Given the description of an element on the screen output the (x, y) to click on. 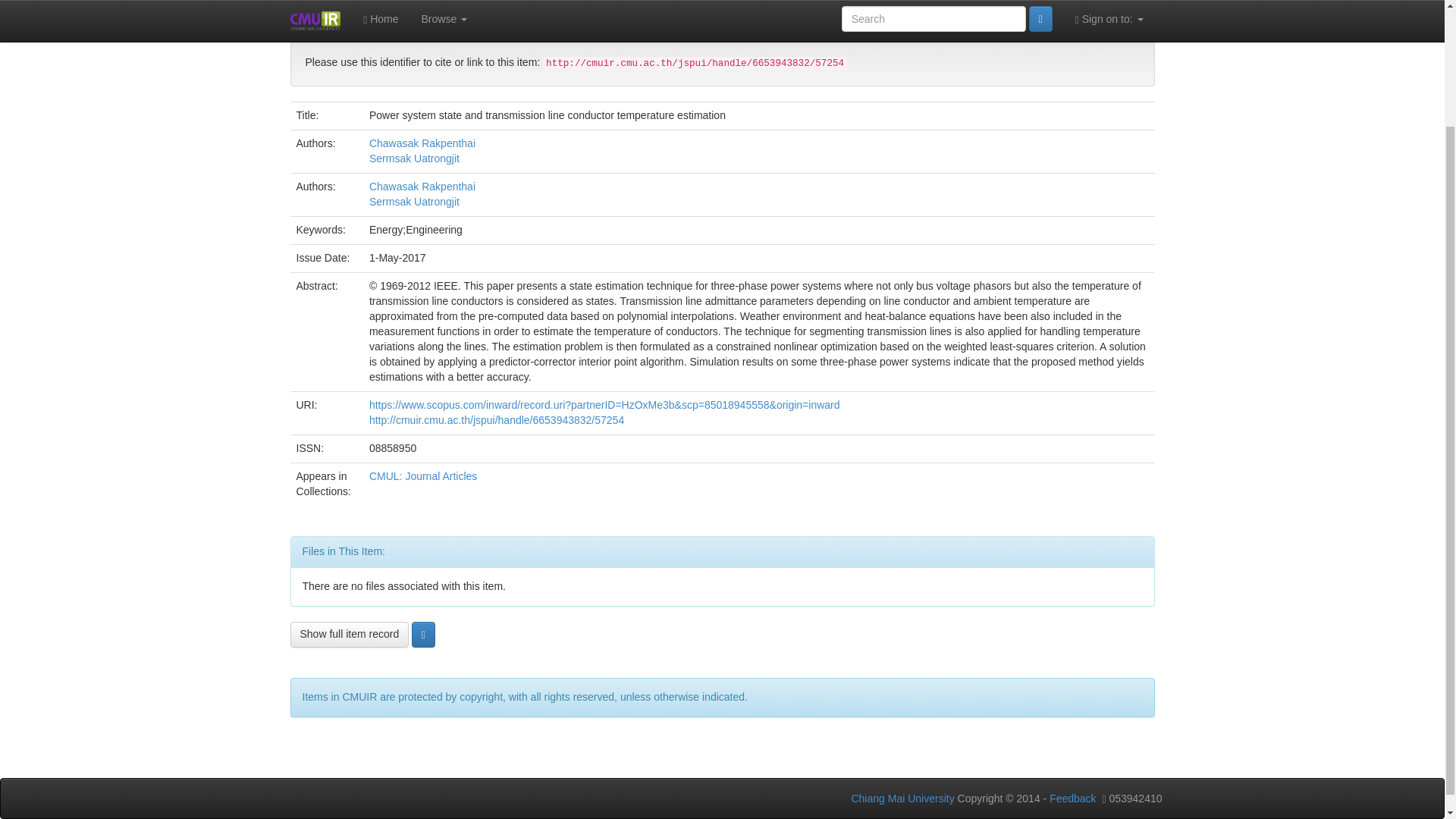
Chawasak Rakpenthai (422, 186)
Sermsak Uatrongjit (414, 201)
Show full item record (349, 634)
CMU Intellectual Repository (371, 10)
Academic Support Units (520, 10)
Chawasak Rakpenthai (422, 143)
Feedback (1072, 798)
Sermsak Uatrongjit (414, 158)
CMUL: Journal Articles (823, 10)
Chiang Mai University (901, 798)
